Given the description of an element on the screen output the (x, y) to click on. 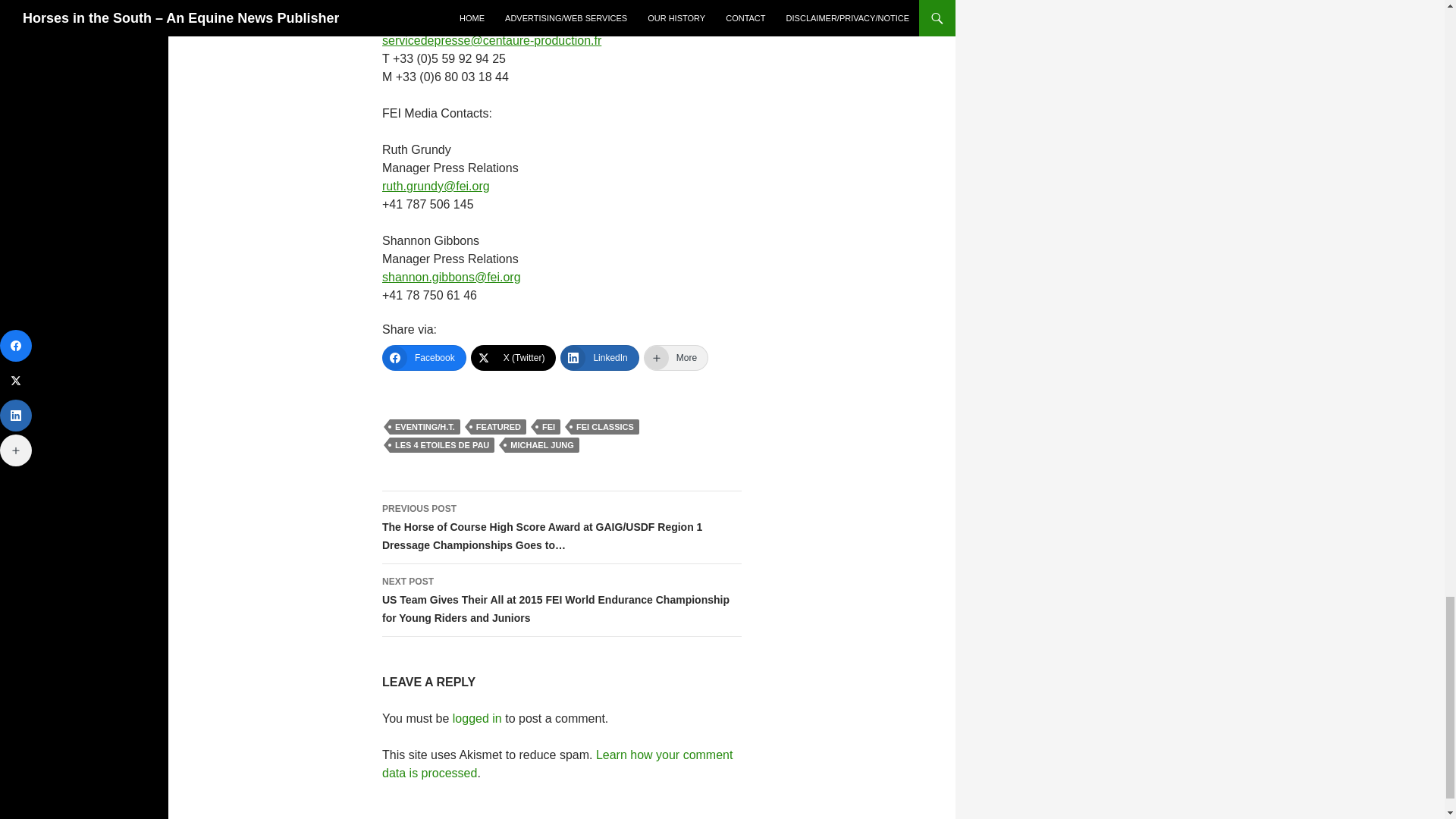
MICHAEL JUNG (542, 444)
Facebook (423, 357)
More (675, 357)
Learn how your comment data is processed (556, 763)
FEI CLASSICS (604, 426)
FEI (548, 426)
FEATURED (497, 426)
LES 4 ETOILES DE PAU (442, 444)
logged in (477, 717)
LinkedIn (599, 357)
